Given the description of an element on the screen output the (x, y) to click on. 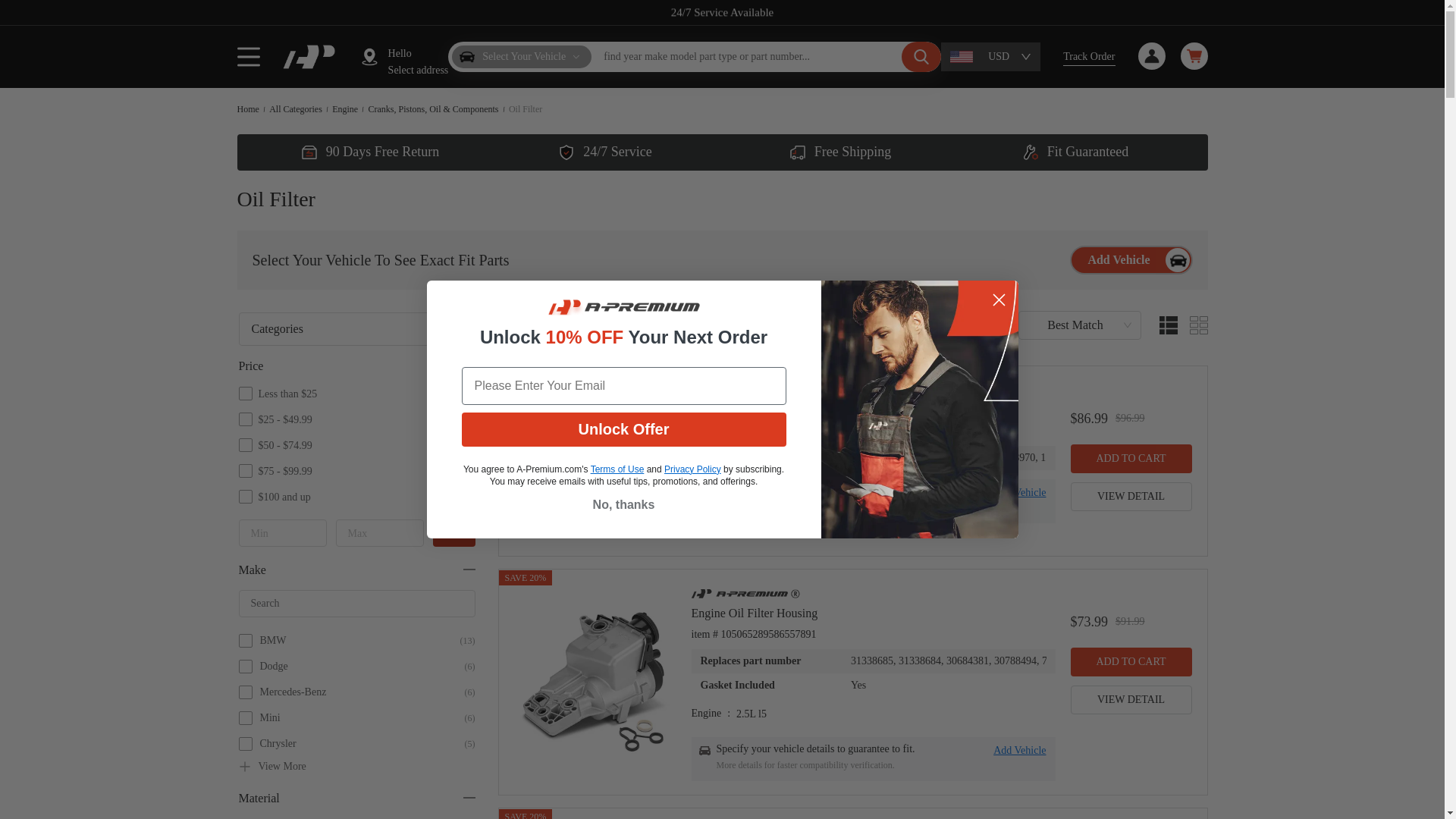
Select Your Vehicle To See Exact Fit Parts (649, 260)
Mercedes-Benz (366, 692)
GO (453, 533)
Dodge (366, 666)
Engine Oil Filter Housing (873, 612)
ADD TO CART (1131, 661)
VIEW DETAIL (1131, 699)
VIEW DETAIL (1131, 496)
BMW (366, 640)
All Categories (297, 109)
Engine Oil Filter Housing (873, 409)
Engine (346, 109)
ADD TO CART (1131, 458)
Chrysler (366, 744)
Home (248, 109)
